Given the description of an element on the screen output the (x, y) to click on. 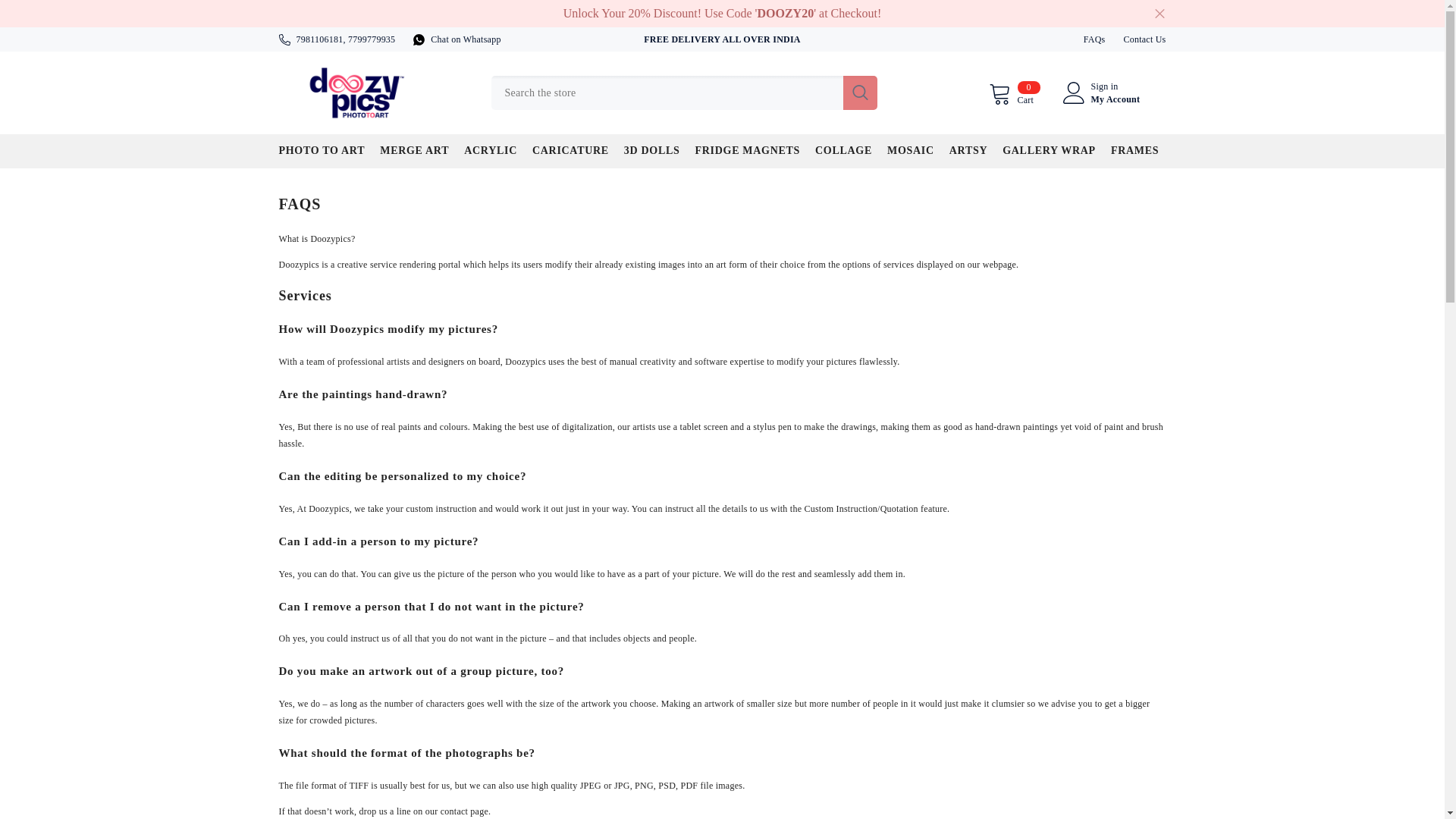
FAQs (1094, 39)
Sign in (1104, 85)
CARICATURE (569, 155)
FRIDGE MAGNETS (1014, 93)
Contact Us (747, 155)
COLLAGE (1144, 39)
MERGE ART (843, 155)
ACRYLIC (414, 155)
7799779935 (490, 155)
Chat on Whatsapp (370, 39)
Close (465, 39)
3D DOLLS (1159, 13)
7981106181 (651, 155)
PHOTO TO ART (318, 39)
